Given the description of an element on the screen output the (x, y) to click on. 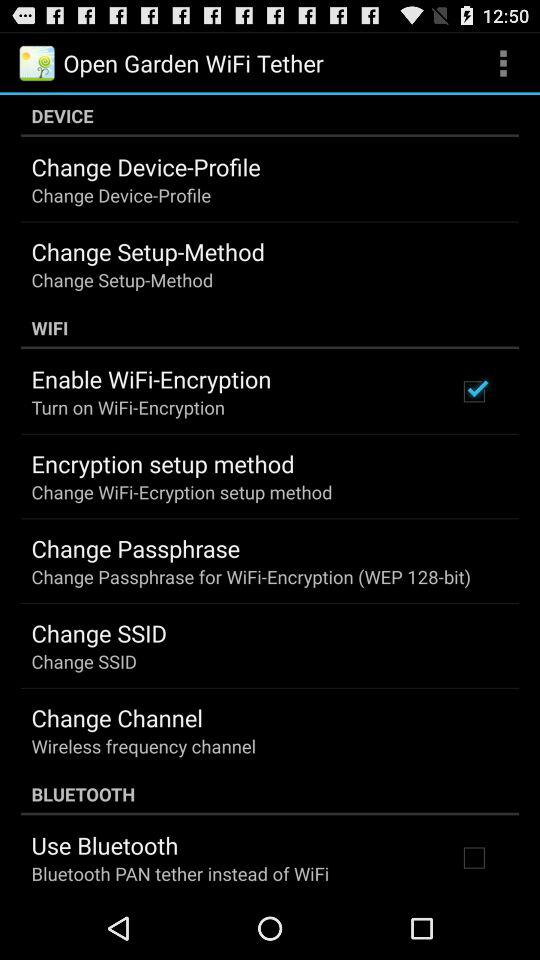
turn on app next to the open garden wifi app (503, 62)
